Given the description of an element on the screen output the (x, y) to click on. 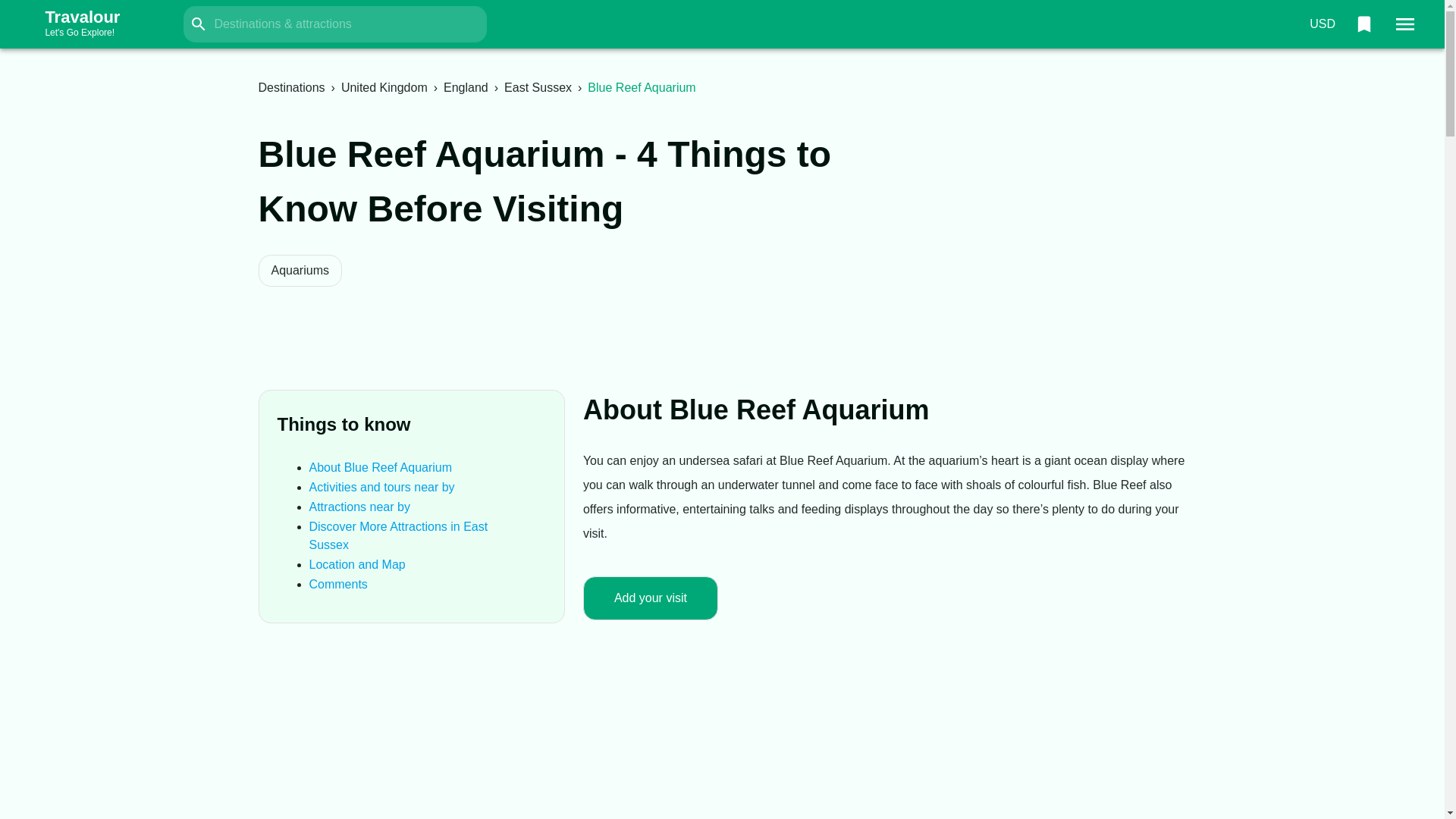
East Sussex (537, 87)
Add your visit (97, 23)
Activities and tours near by (650, 597)
About Blue Reef Aquarium (381, 486)
Comments (380, 467)
USD (338, 584)
Attractions near by (1321, 23)
0 (359, 506)
Location and Map (1363, 24)
Destinations (357, 563)
United Kingdom (290, 87)
Discover More Attractions in East Sussex (384, 87)
England (397, 535)
